Given the description of an element on the screen output the (x, y) to click on. 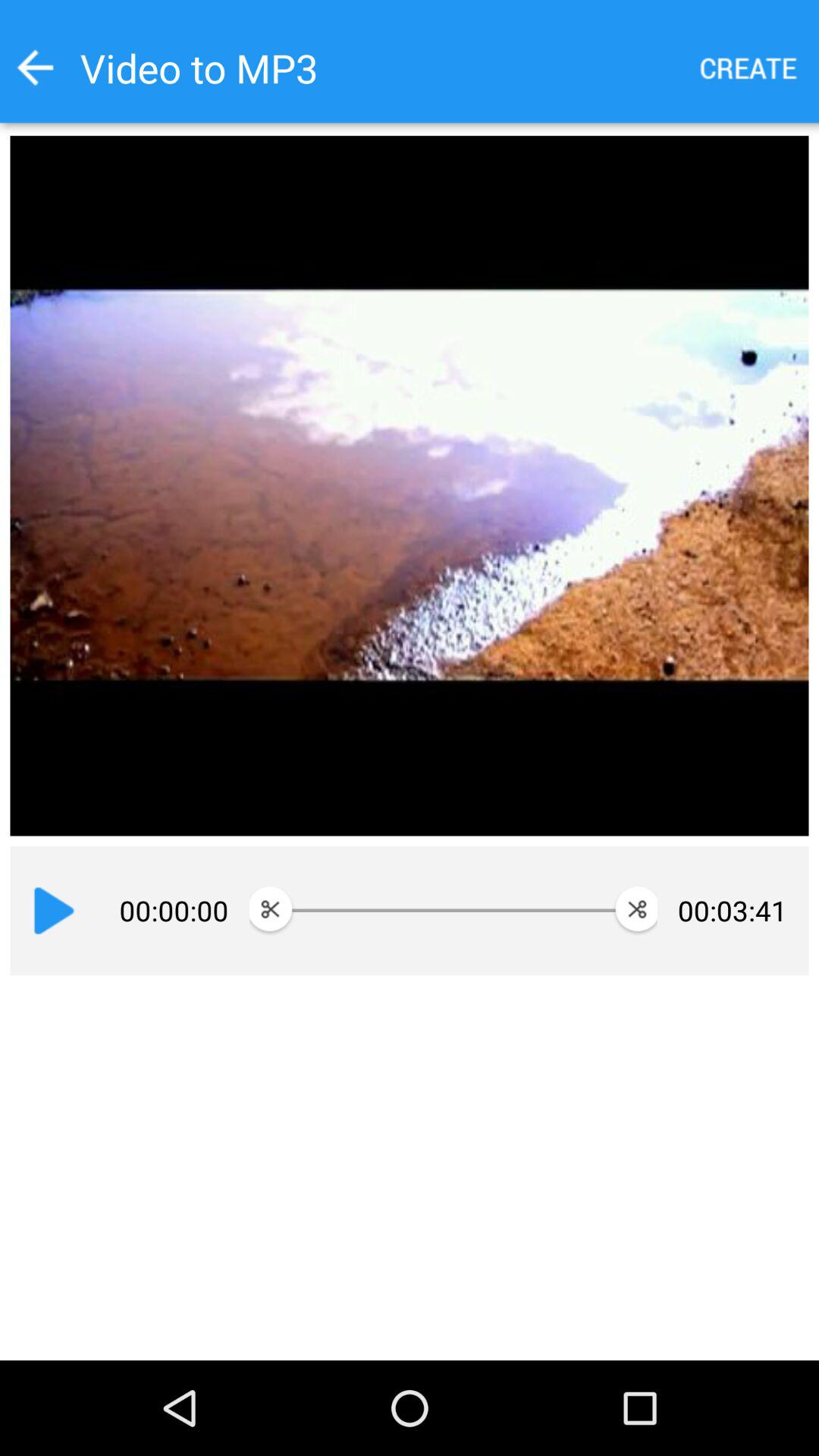
turn on app next to 00:00:00 item (54, 910)
